Given the description of an element on the screen output the (x, y) to click on. 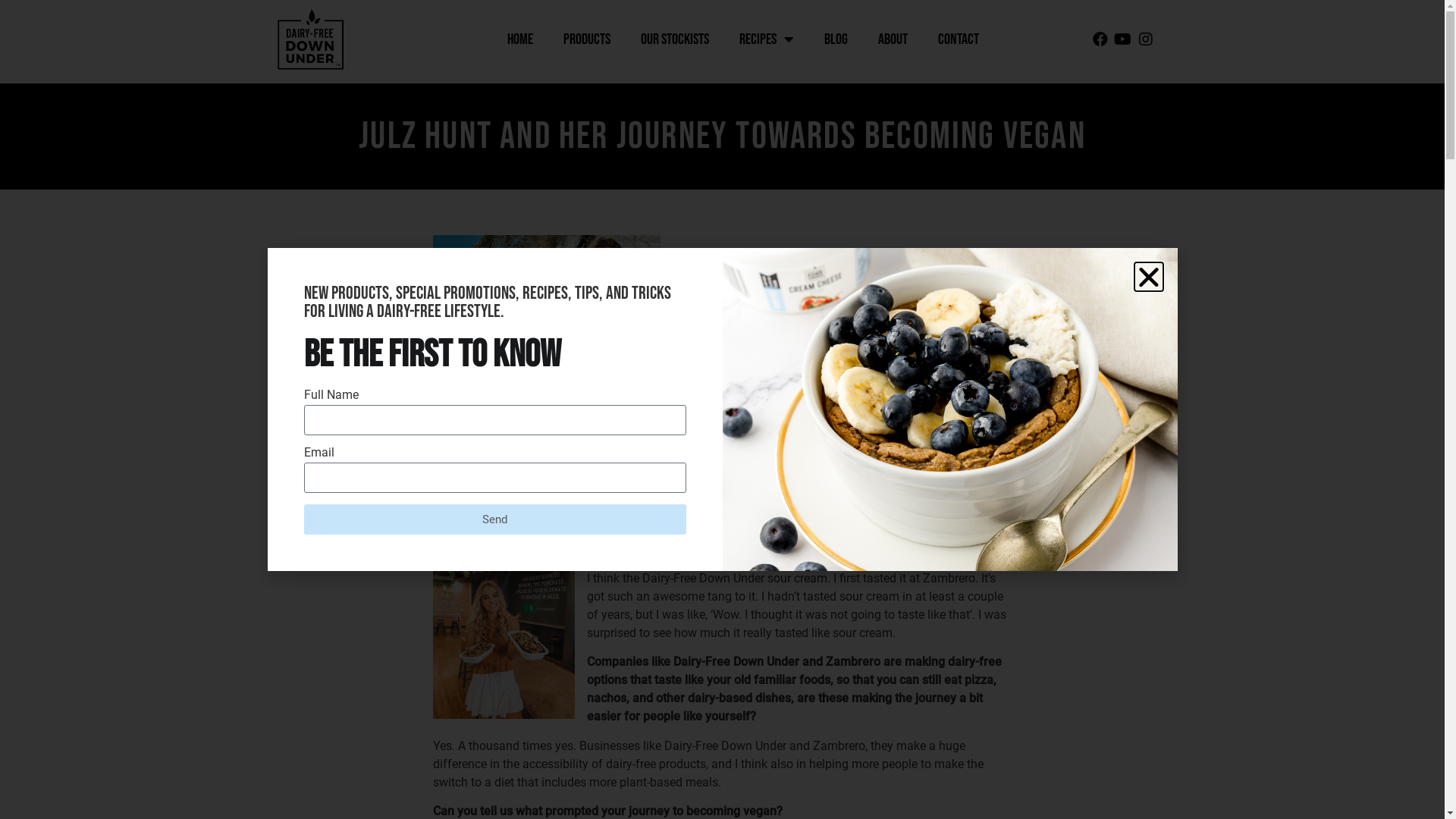
Products Element type: text (586, 38)
Blog Element type: text (835, 38)
Home Element type: text (520, 38)
Our stockists Element type: text (674, 38)
February 22, 2019 Element type: text (487, 398)
Contact Element type: text (958, 38)
Recipes Element type: text (766, 38)
About Element type: text (892, 38)
Send Element type: text (494, 519)
